Given the description of an element on the screen output the (x, y) to click on. 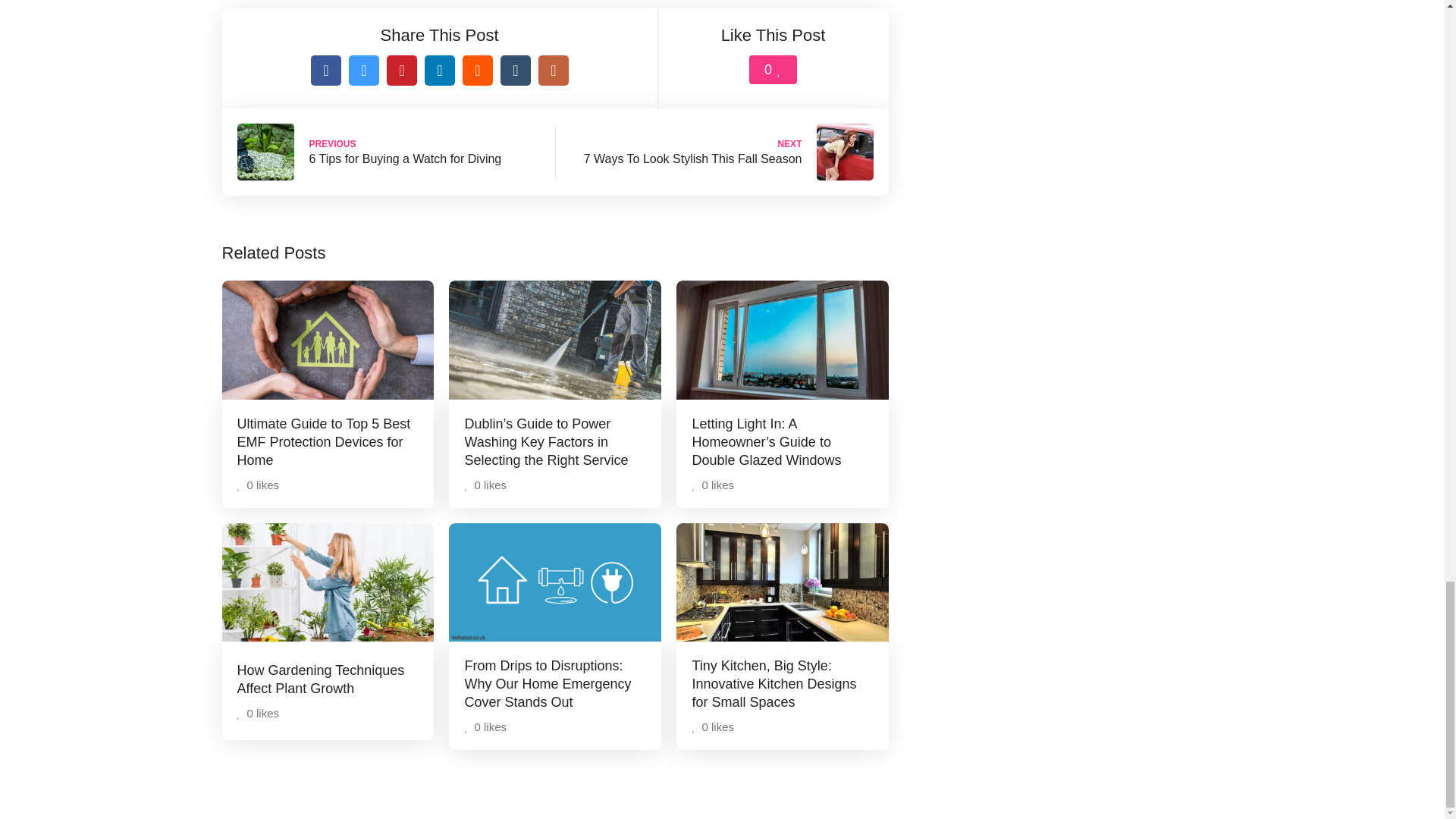
Reddit (478, 70)
Pinterest (401, 70)
LinkedIn (439, 70)
Tumblr (515, 70)
Twitter (363, 70)
Facebook (325, 70)
